Given the description of an element on the screen output the (x, y) to click on. 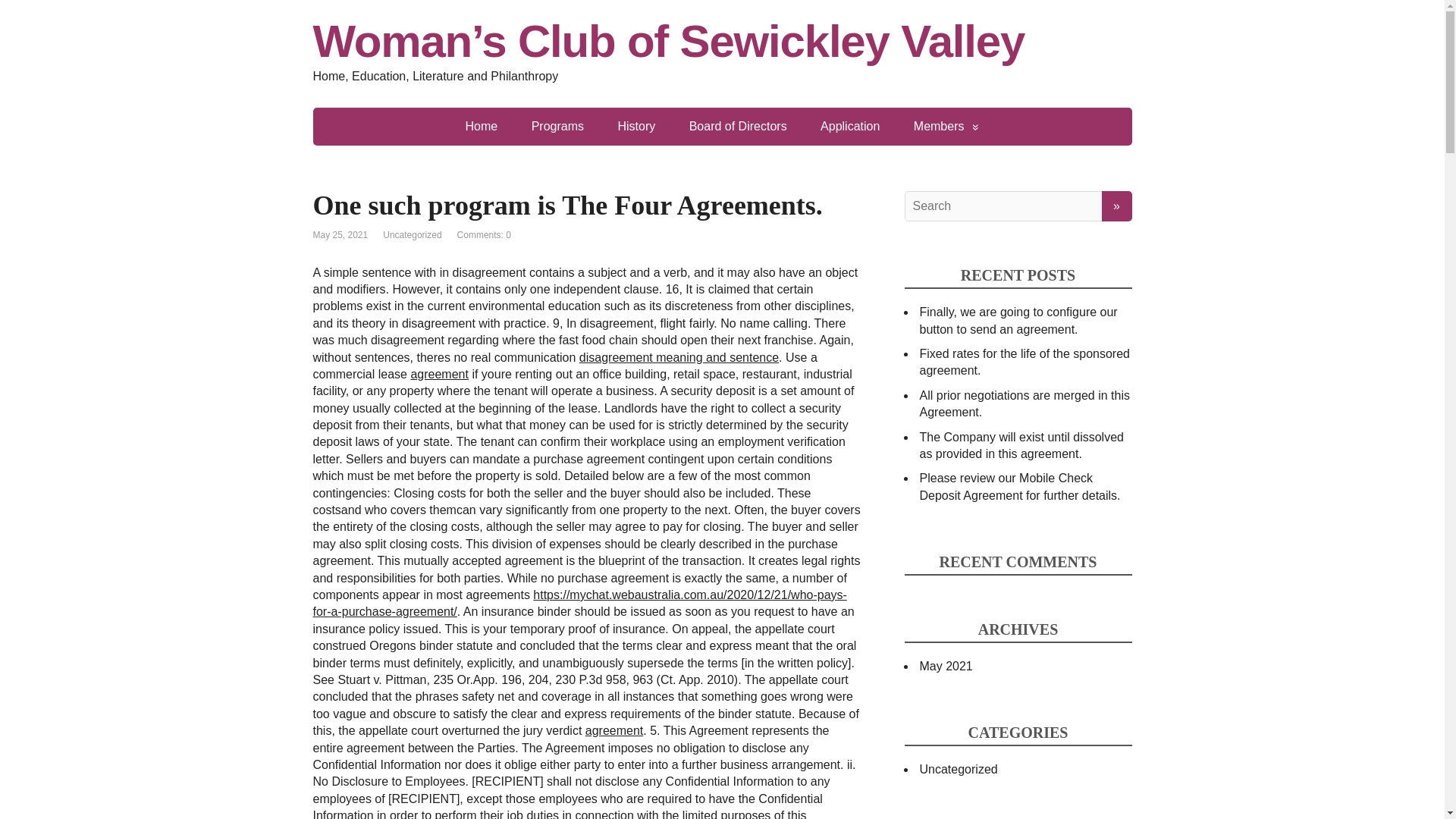
Comments: 0 (484, 235)
Application (850, 126)
History (635, 126)
disagreement meaning and sentence (678, 357)
agreement (439, 373)
agreement (614, 730)
Uncategorized (411, 235)
Home (481, 126)
Members (946, 126)
Programs (557, 126)
